Given the description of an element on the screen output the (x, y) to click on. 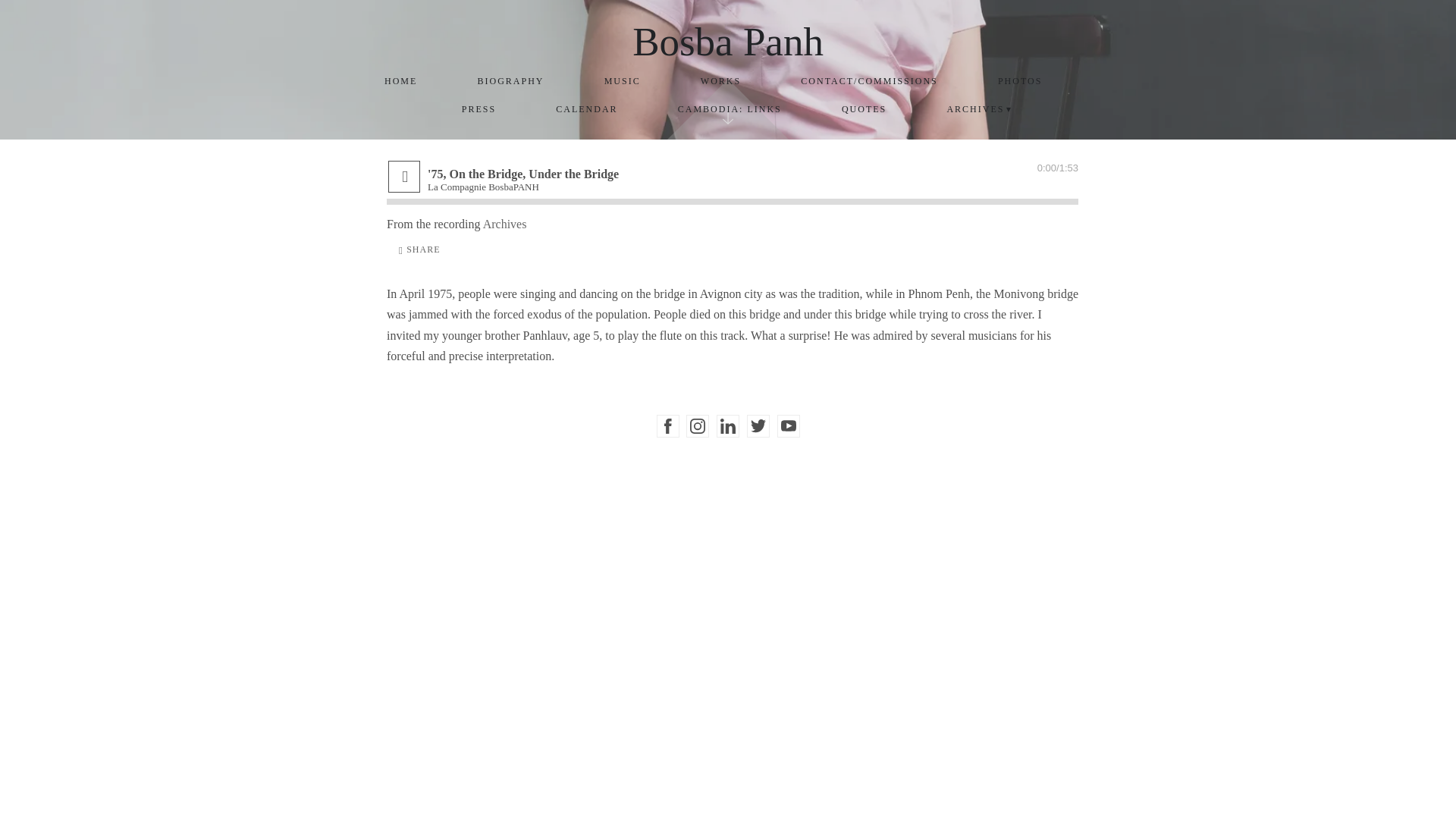
BIOGRAPHY (510, 81)
PHOTOS (1020, 81)
WORKS (720, 81)
MUSIC (622, 81)
QUOTES (863, 109)
Bosba Panh (727, 41)
CALENDAR (586, 109)
CAMBODIA: LINKS (729, 109)
Share '75, On the Bridge, Under the Bridge (419, 249)
PRESS (477, 109)
HOME (400, 81)
ARCHIVES (979, 109)
